Given the description of an element on the screen output the (x, y) to click on. 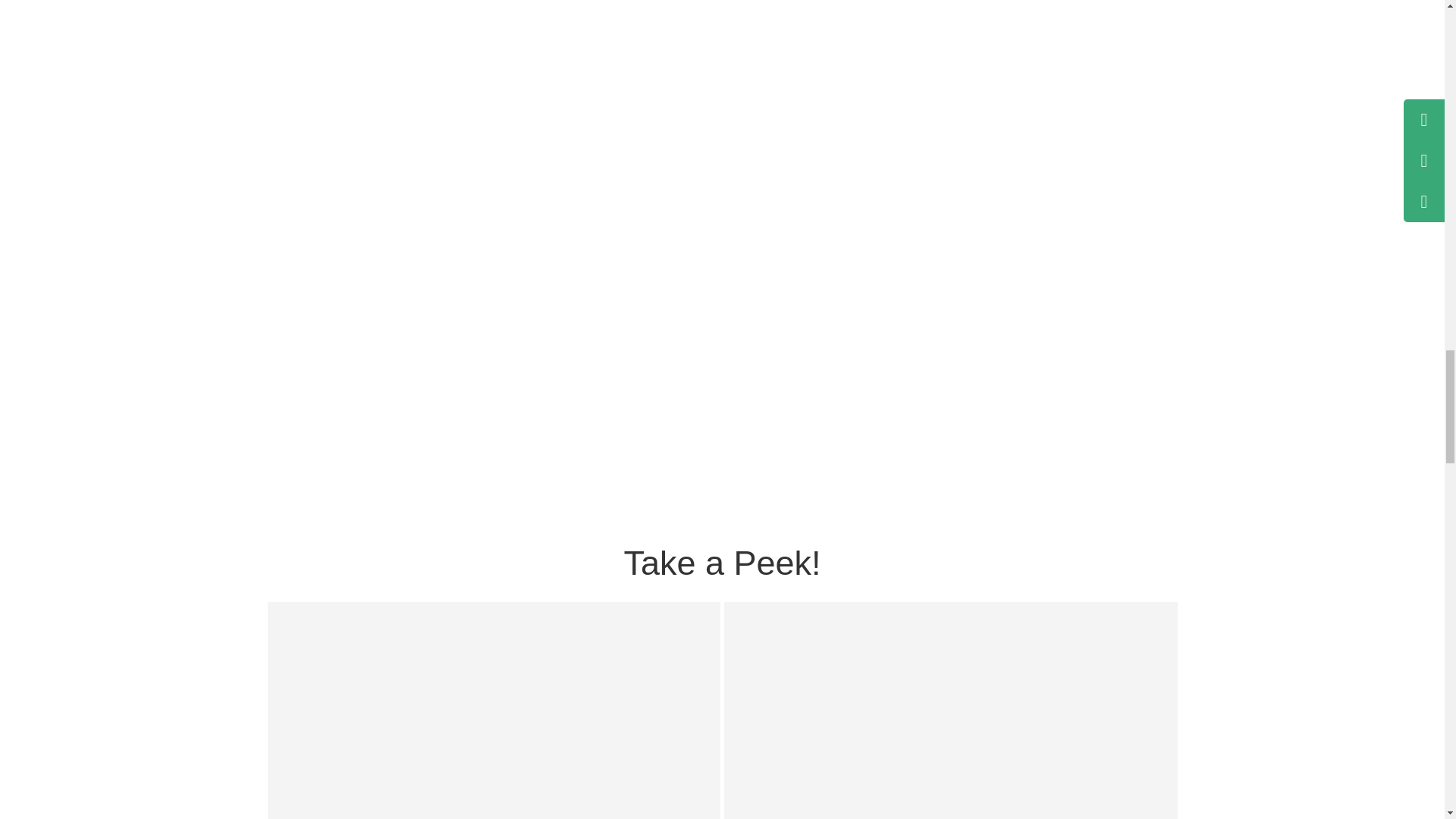
Click Here (950, 710)
Click Here (493, 710)
